Given the description of an element on the screen output the (x, y) to click on. 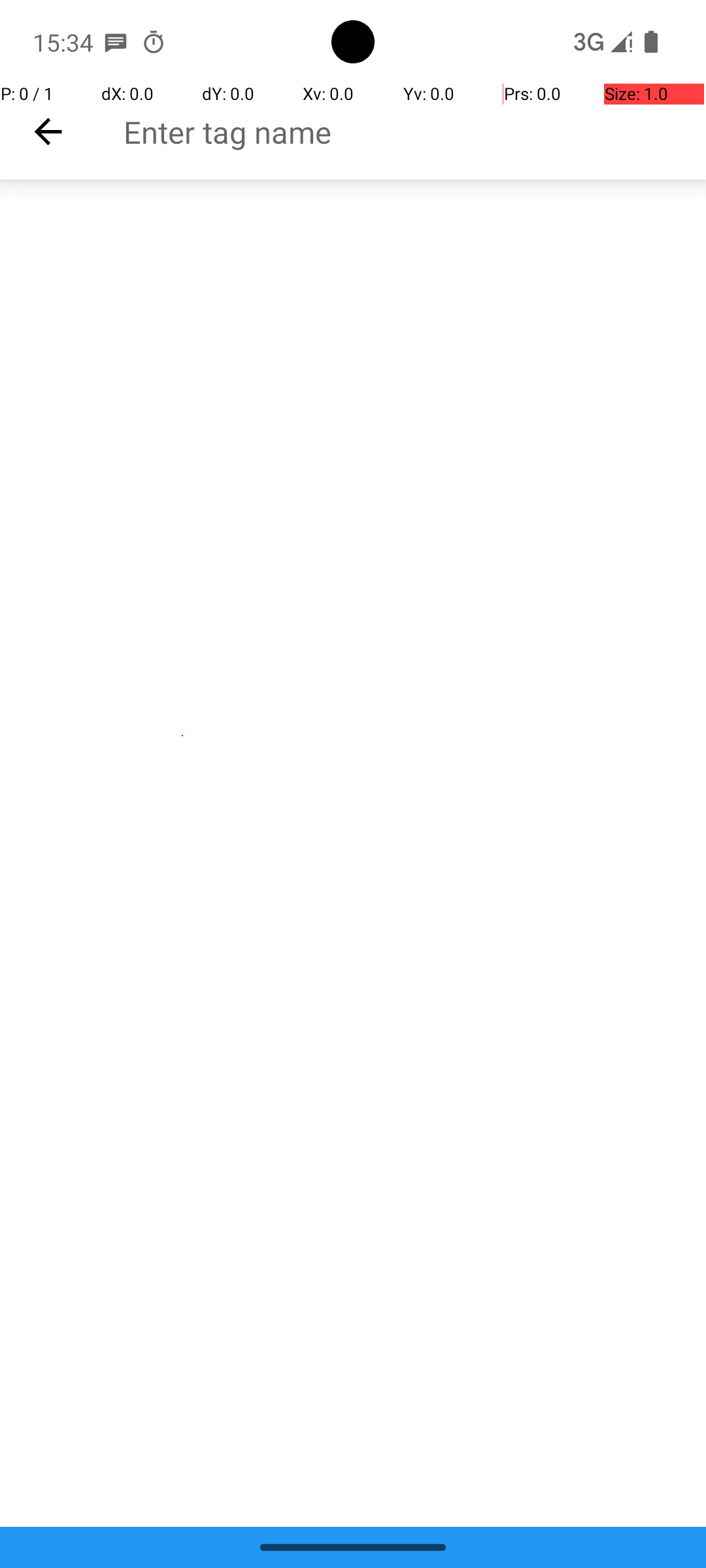
Enter tag name Element type: android.widget.EditText (414, 131)
